Given the description of an element on the screen output the (x, y) to click on. 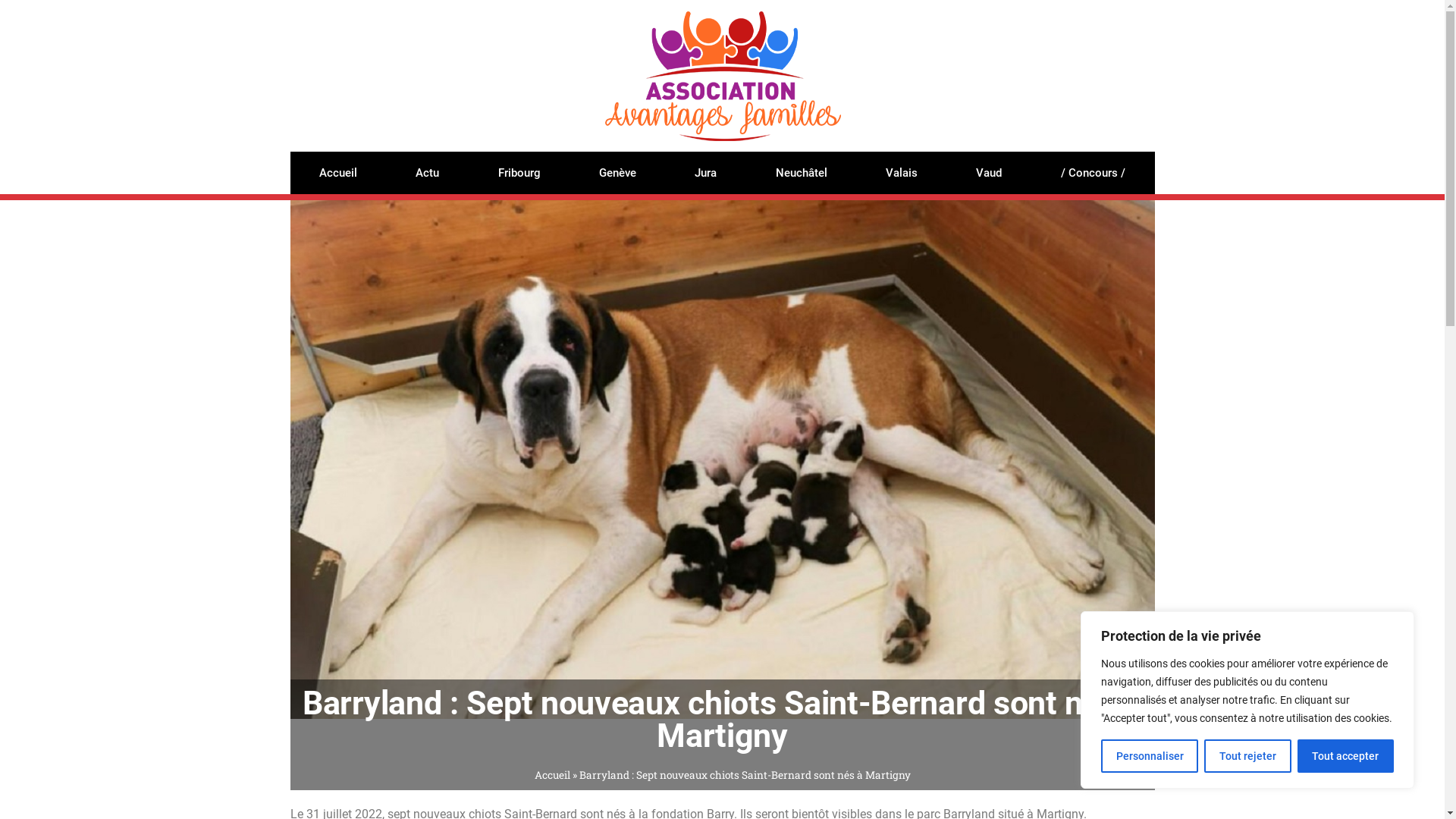
Fribourg Element type: text (518, 172)
Accueil Element type: text (337, 172)
Actu Element type: text (427, 172)
Personnaliser Element type: text (1149, 755)
Tout rejeter Element type: text (1247, 755)
/ Concours / Element type: text (1092, 172)
Valais Element type: text (901, 172)
Tout accepter Element type: text (1345, 755)
Jura Element type: text (705, 172)
Vaud Element type: text (989, 172)
Accueil Element type: text (551, 774)
